Given the description of an element on the screen output the (x, y) to click on. 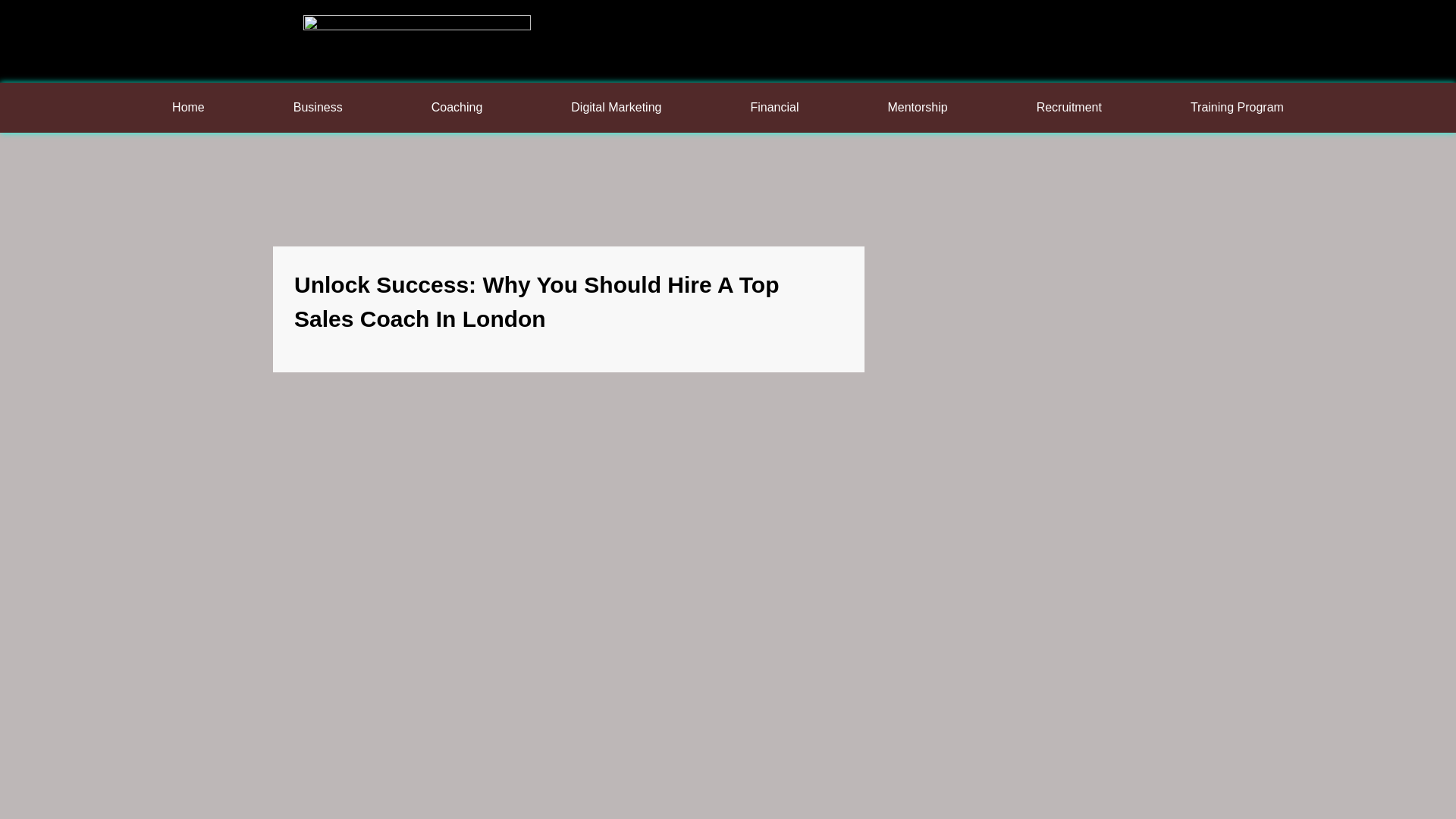
Training Program (1236, 107)
Mentorship (917, 107)
Coaching (456, 107)
Business (318, 107)
Digital Marketing (616, 107)
Home (188, 107)
Financial (774, 107)
Recruitment (1069, 107)
